Given the description of an element on the screen output the (x, y) to click on. 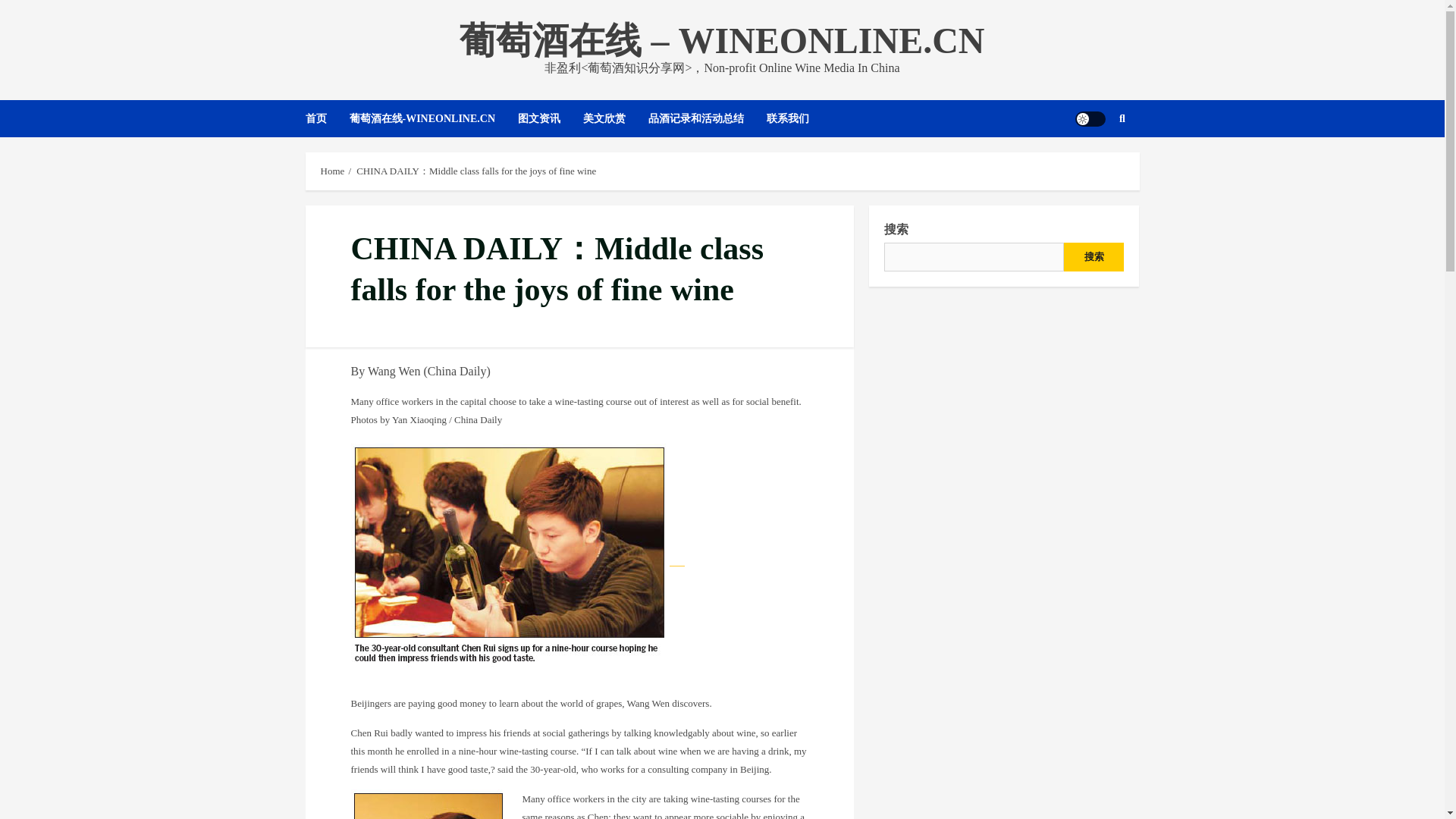
Home (331, 171)
